Given the description of an element on the screen output the (x, y) to click on. 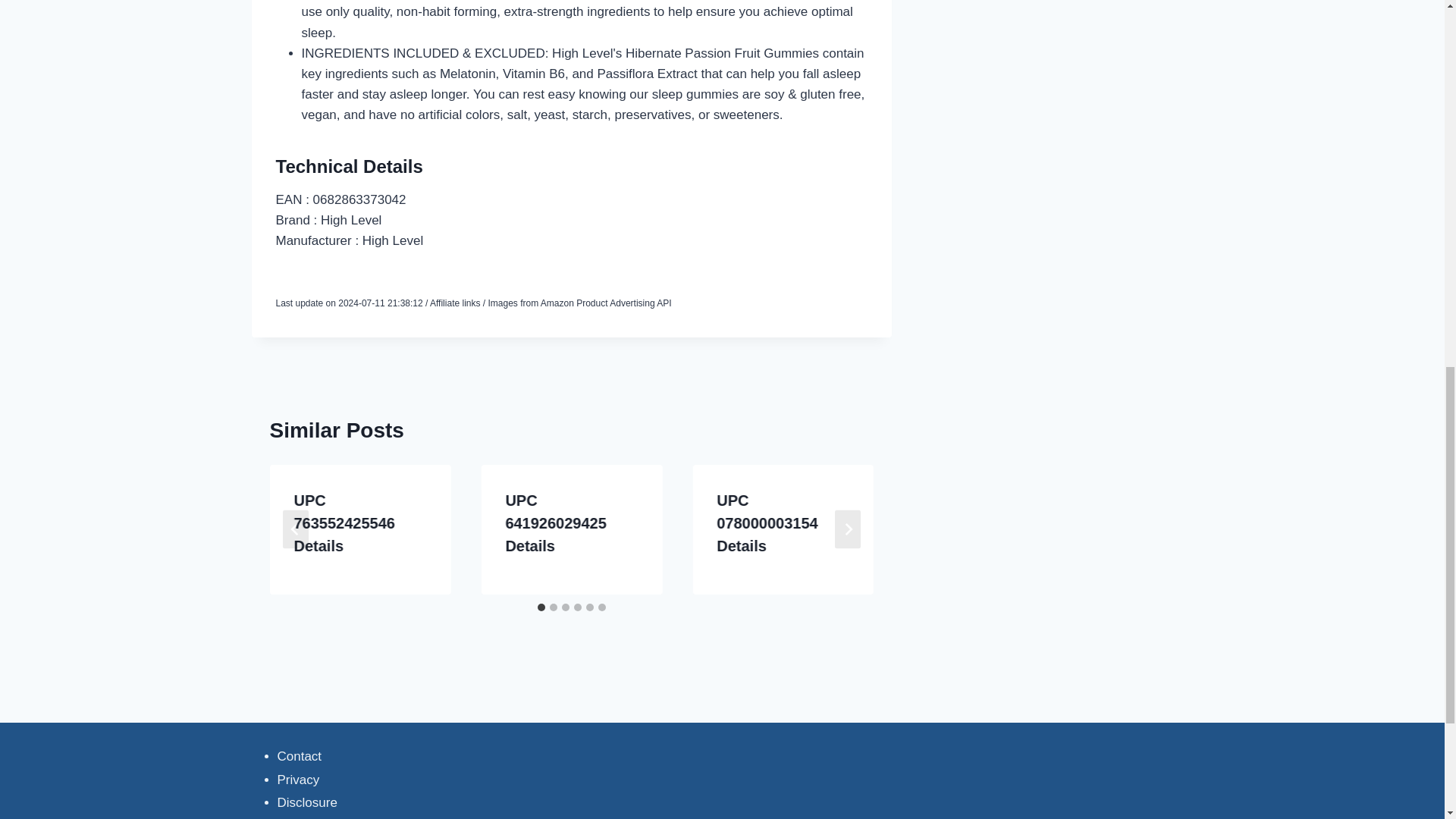
Disclosure (307, 802)
Privacy (299, 780)
UPC 763552425546 Details (344, 523)
Contact (299, 756)
UPC 078000003154 Details (766, 523)
UPC 641926029425 Details (555, 523)
